Given the description of an element on the screen output the (x, y) to click on. 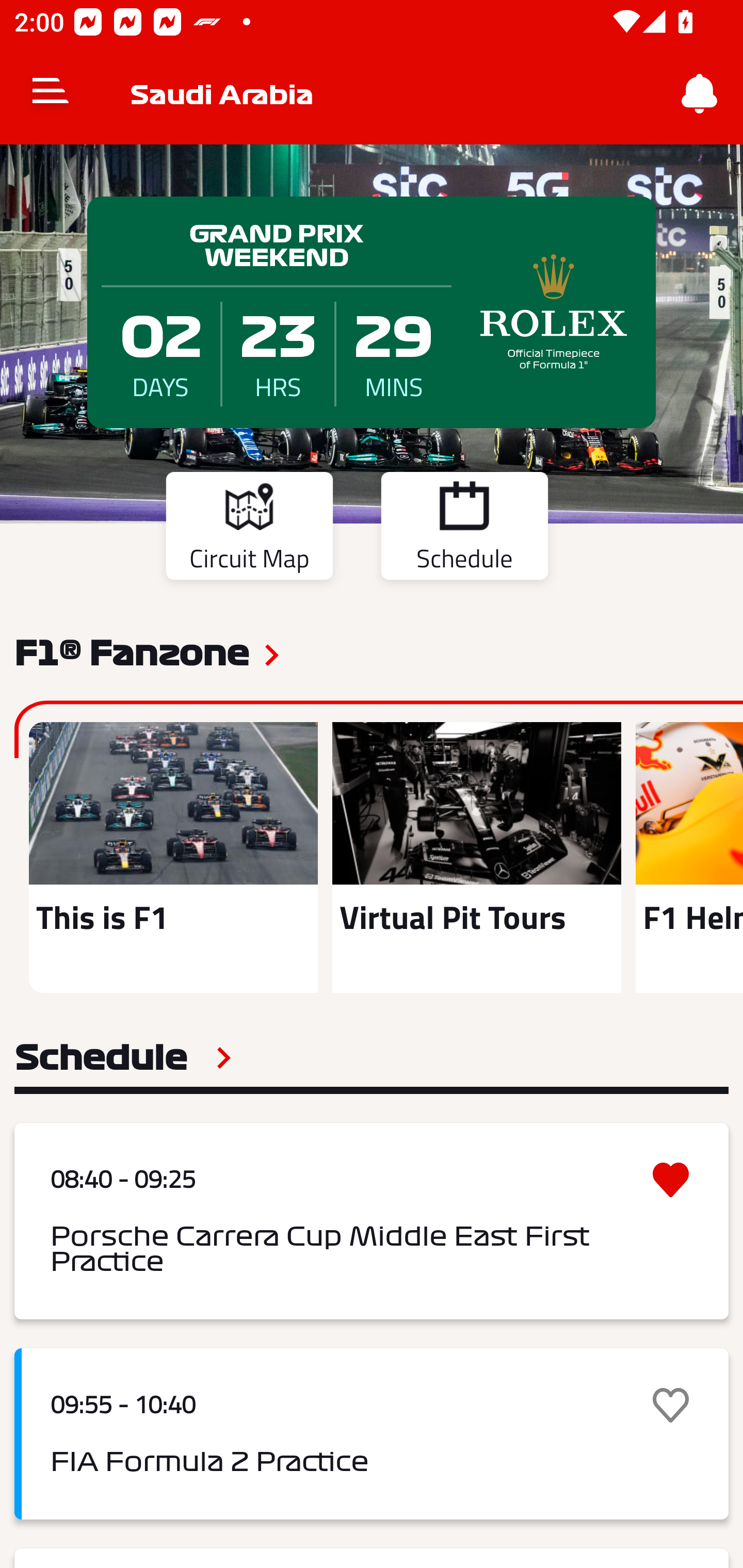
Navigate up (50, 93)
Notifications (699, 93)
Circuit Map (249, 528)
Schedule (464, 528)
F1® Fanzone (131, 651)
This is F1 (173, 857)
Virtual Pit Tours (476, 857)
Schedule (122, 1057)
09:55 - 10:40 FIA Formula 2 Practice (371, 1433)
